Given the description of an element on the screen output the (x, y) to click on. 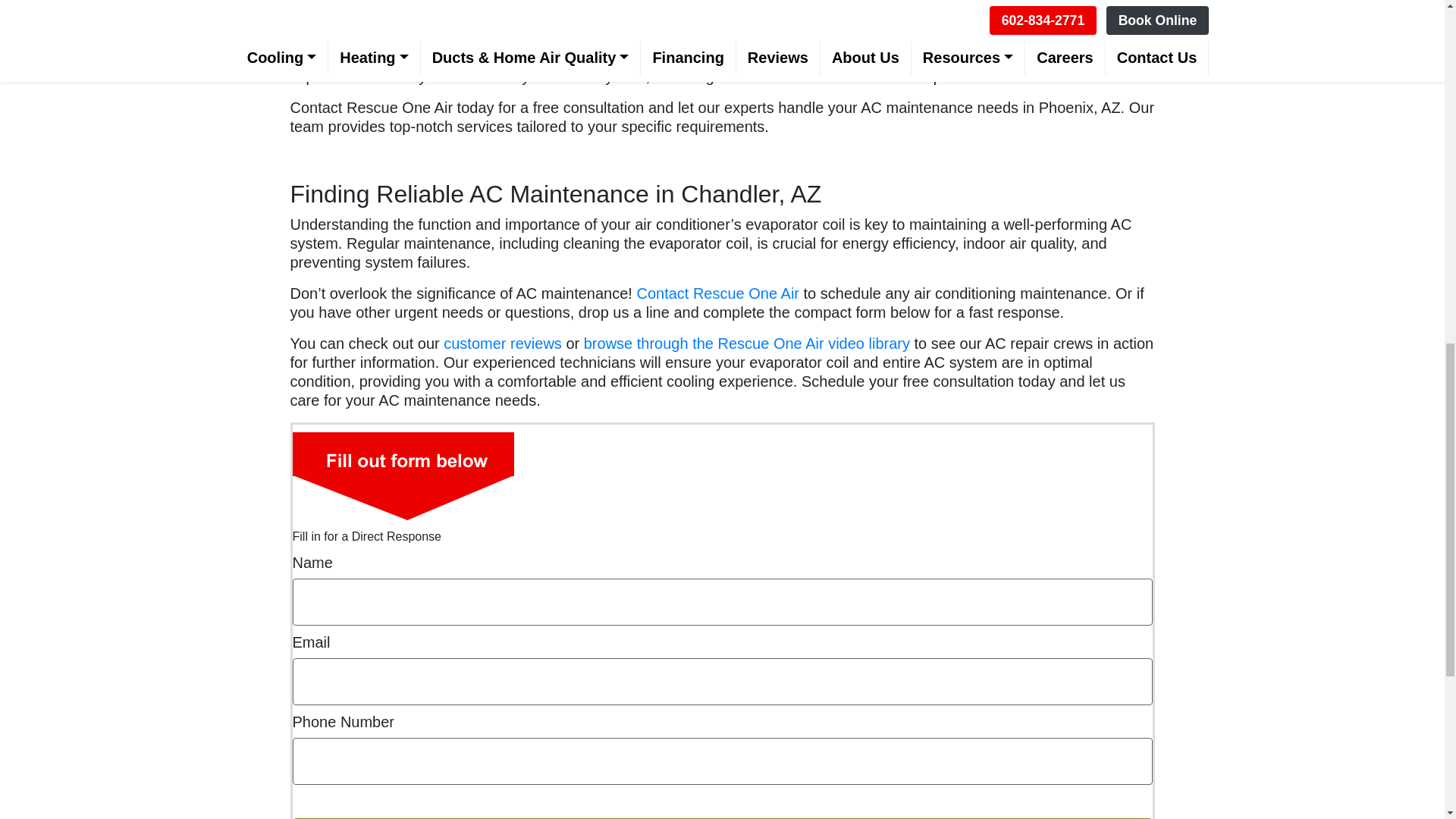
Contact Rescue One Air (717, 293)
customer reviews (503, 343)
browse through the Rescue One Air video library (746, 343)
